Given the description of an element on the screen output the (x, y) to click on. 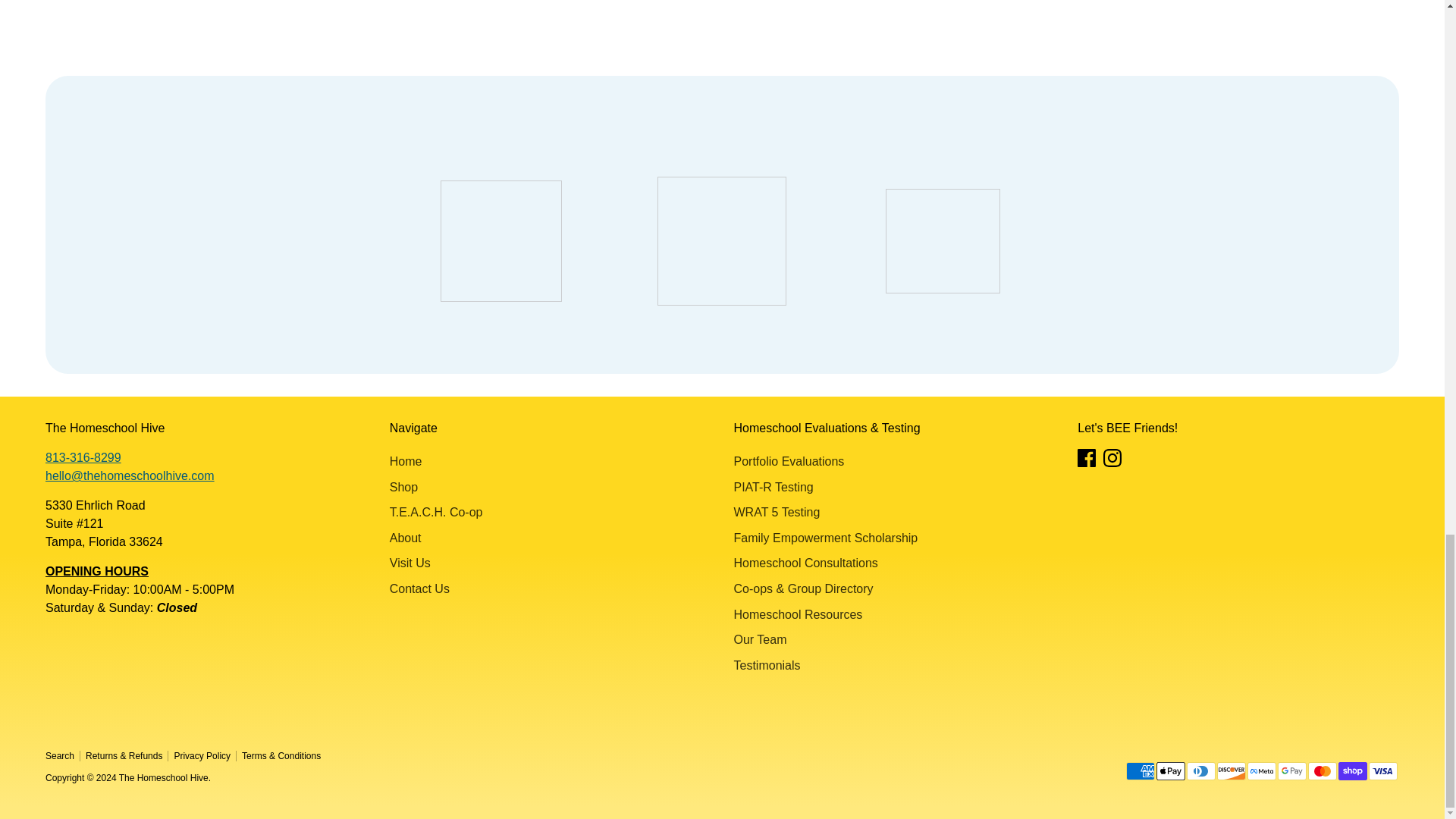
Meta Pay (1261, 771)
American Express (1139, 771)
tel:813-316-8299 (82, 457)
Mastercard (1321, 771)
Diners Club (1200, 771)
Discover (1231, 771)
Google Pay (1292, 771)
Apple Pay (1170, 771)
